Given the description of an element on the screen output the (x, y) to click on. 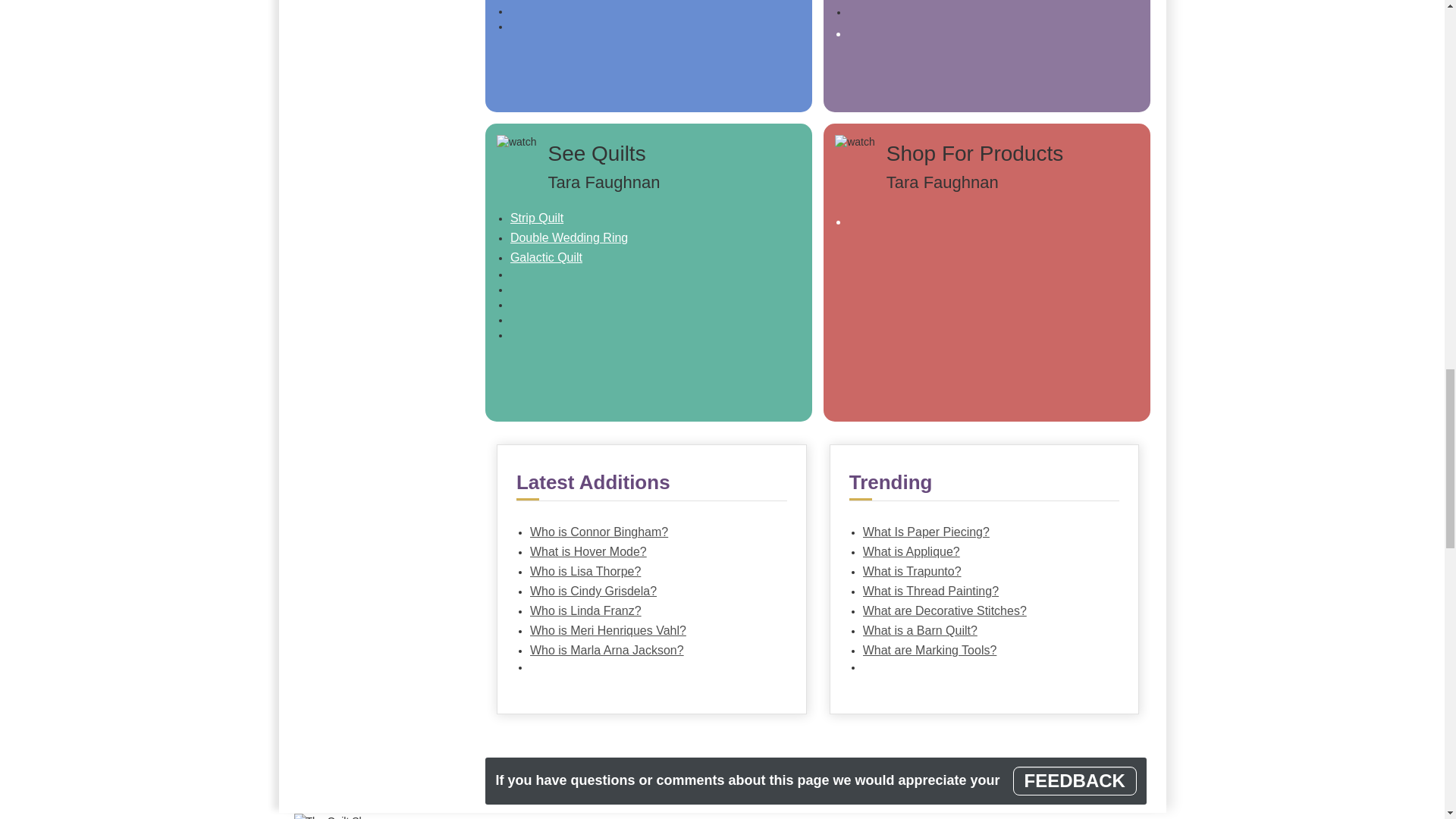
Who is Lisa Thorpe? (651, 571)
Who is Cindy Grisdela? (651, 591)
Who is Connor Bingham? (651, 532)
The Quilt Show (336, 816)
Double Wedding Ring (649, 238)
Who is Linda Franz? (651, 610)
What is Hover Mode? (651, 551)
Galactic Quilt (649, 257)
Strip Quilt (649, 218)
